Given the description of an element on the screen output the (x, y) to click on. 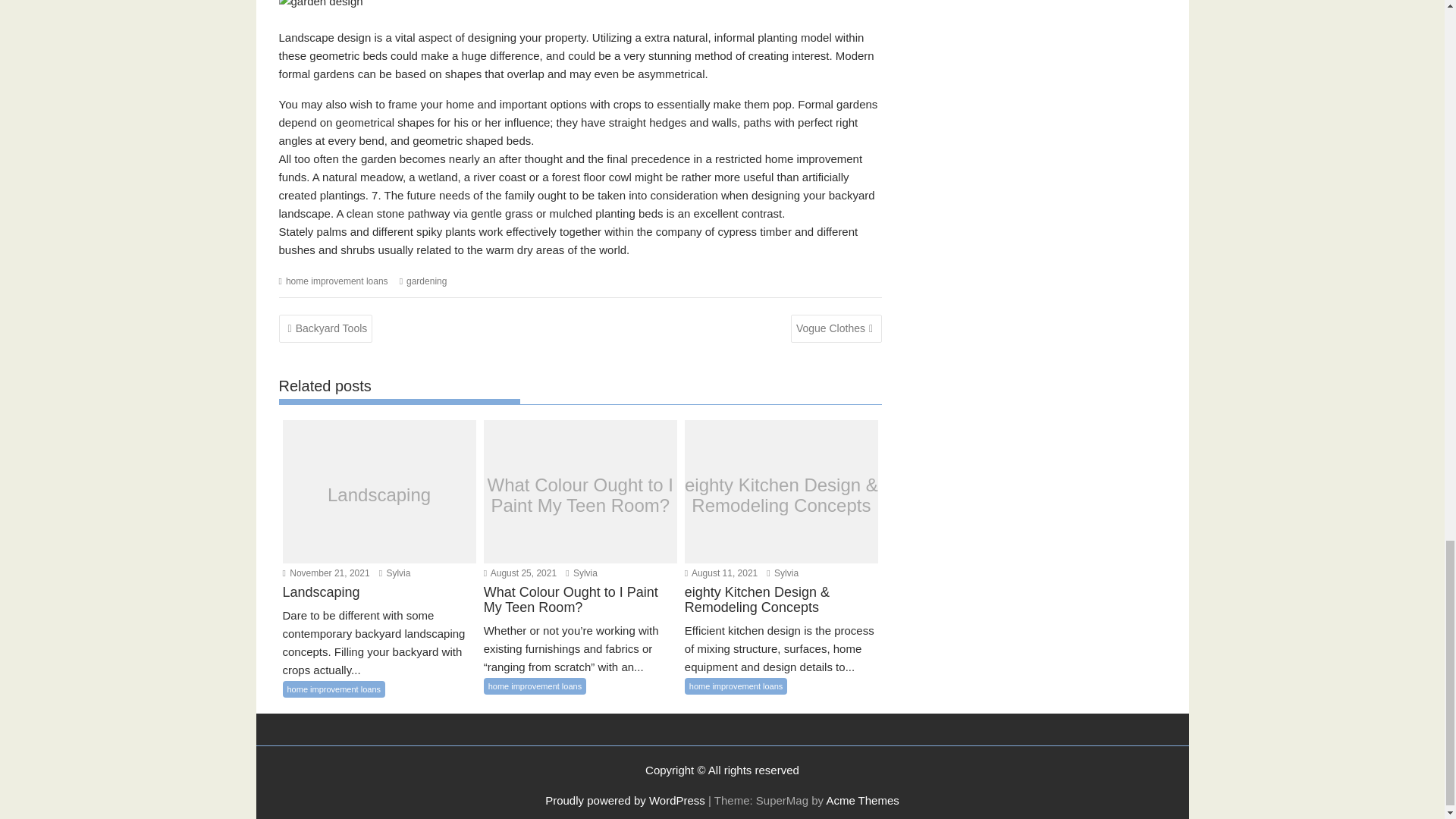
Sylvia (782, 573)
Sylvia (394, 573)
Sylvia (581, 573)
